Given the description of an element on the screen output the (x, y) to click on. 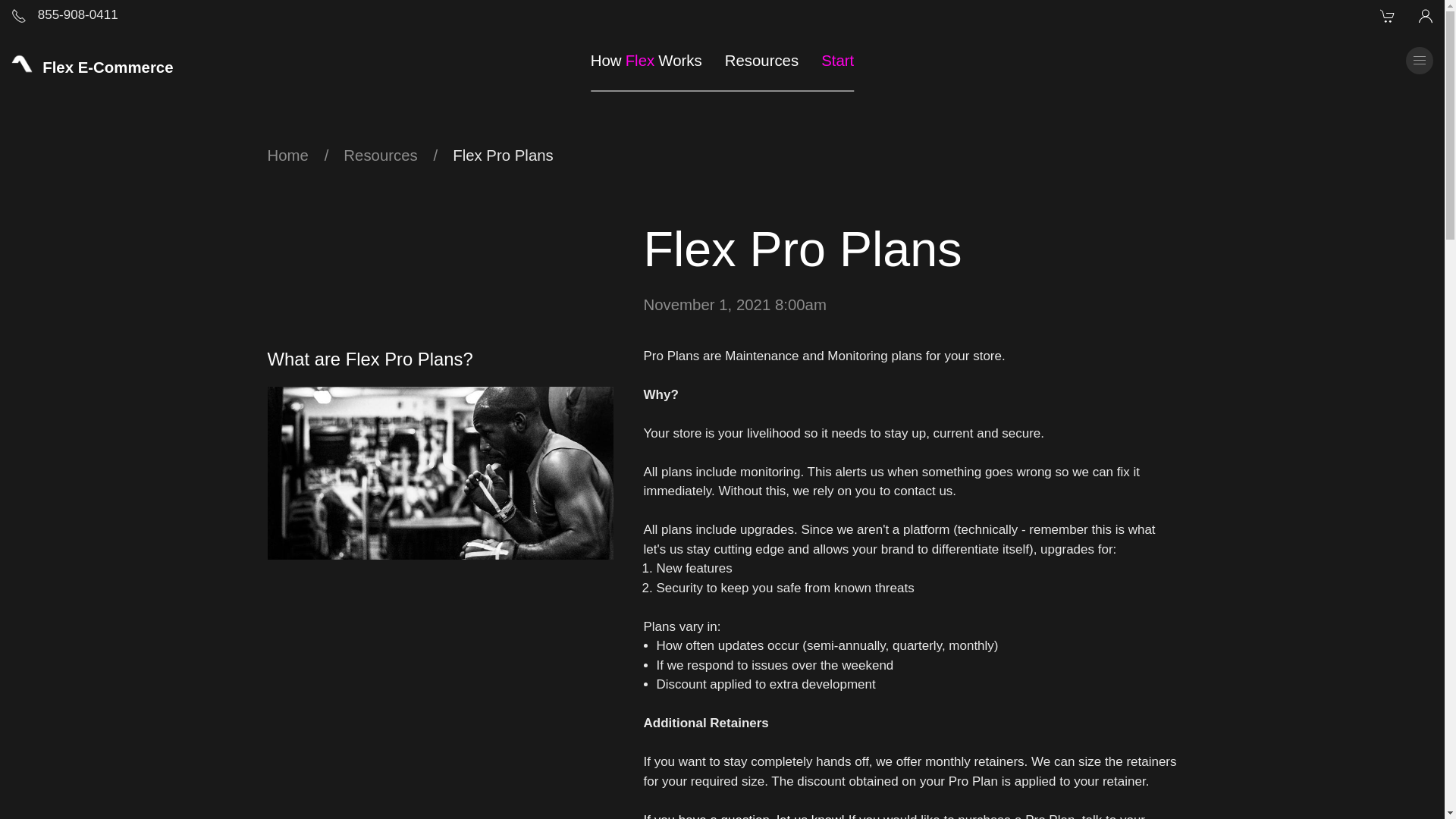
If you have a question, let us know! (743, 816)
Flex Pro Plans (502, 155)
Resources (652, 60)
Flex E-commerce (761, 60)
855-908-0411 (92, 59)
November 1, 2021 at 8:00am  (64, 14)
Resources (734, 304)
Home (379, 155)
Flex E-Commerce (286, 155)
